Given the description of an element on the screen output the (x, y) to click on. 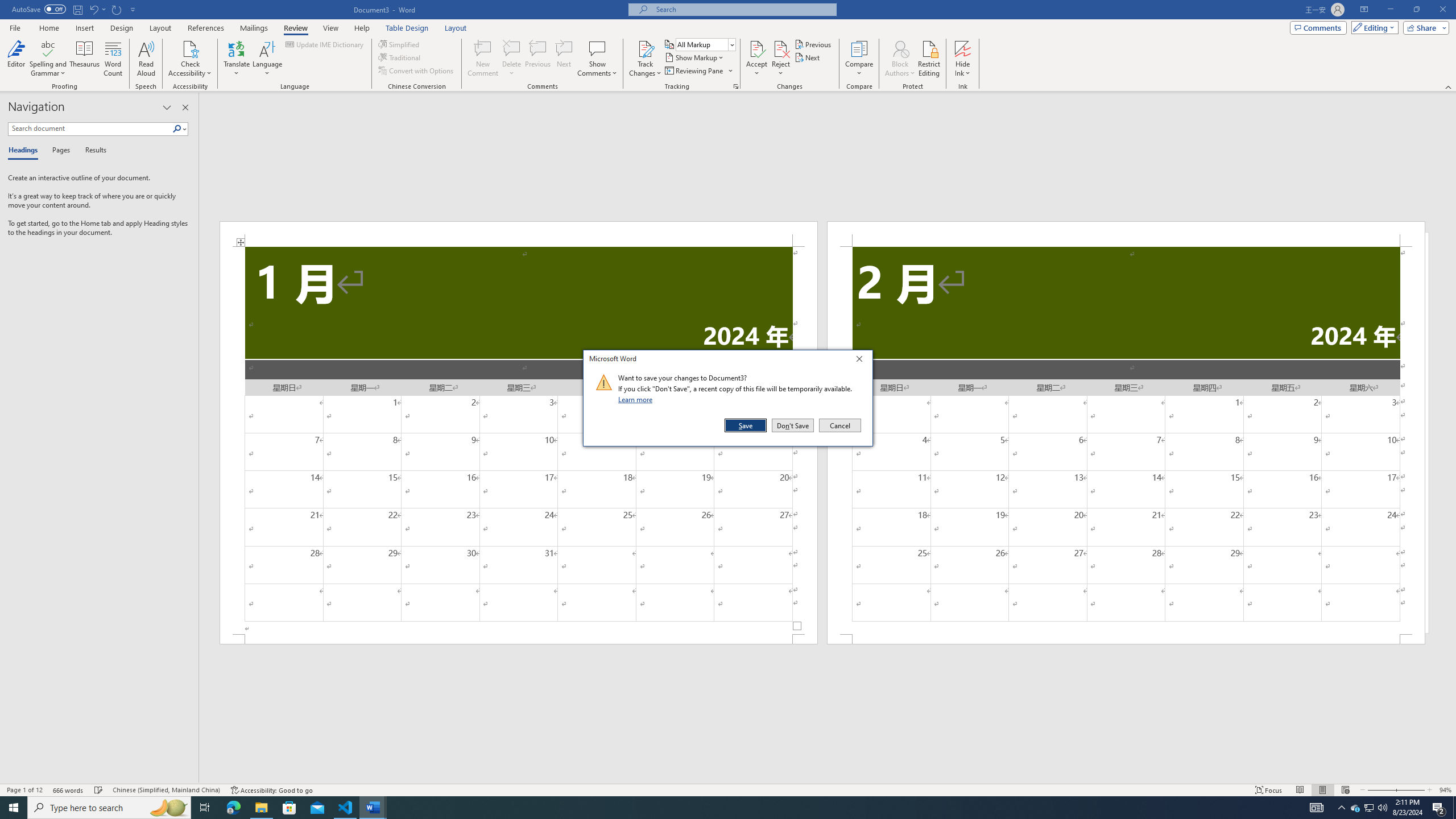
Hide Ink (962, 58)
